Given the description of an element on the screen output the (x, y) to click on. 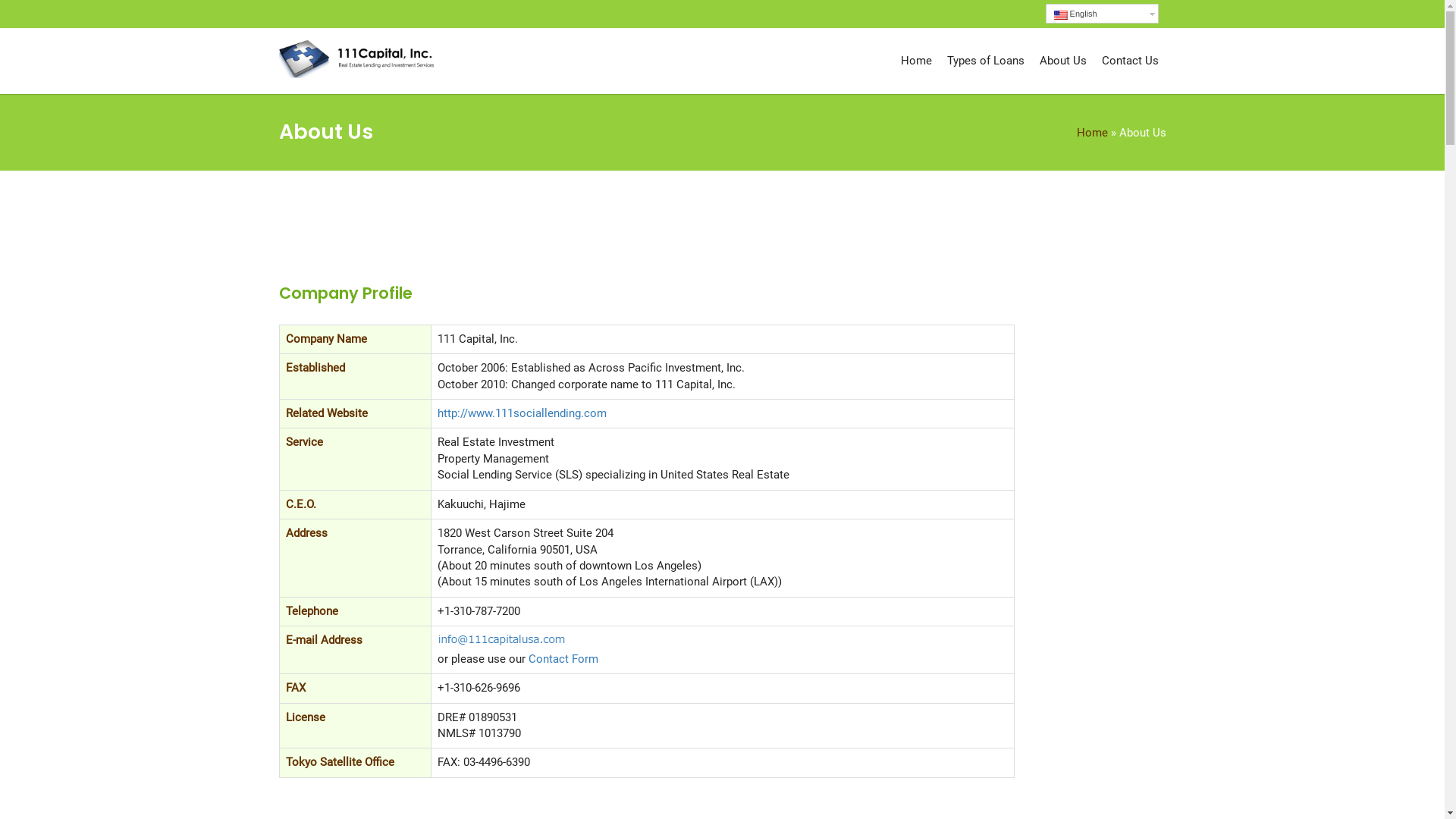
 English Element type: text (1100, 13)
http://www.111sociallending.com Element type: text (520, 413)
Contact Us Element type: text (1129, 60)
About Us Element type: text (1062, 60)
Types of Loans Element type: text (984, 60)
Home Element type: text (1091, 132)
English Element type: hover (1060, 14)
Home Element type: text (916, 60)
 English Element type: text (1100, 15)
Contact Form Element type: text (562, 658)
